Given the description of an element on the screen output the (x, y) to click on. 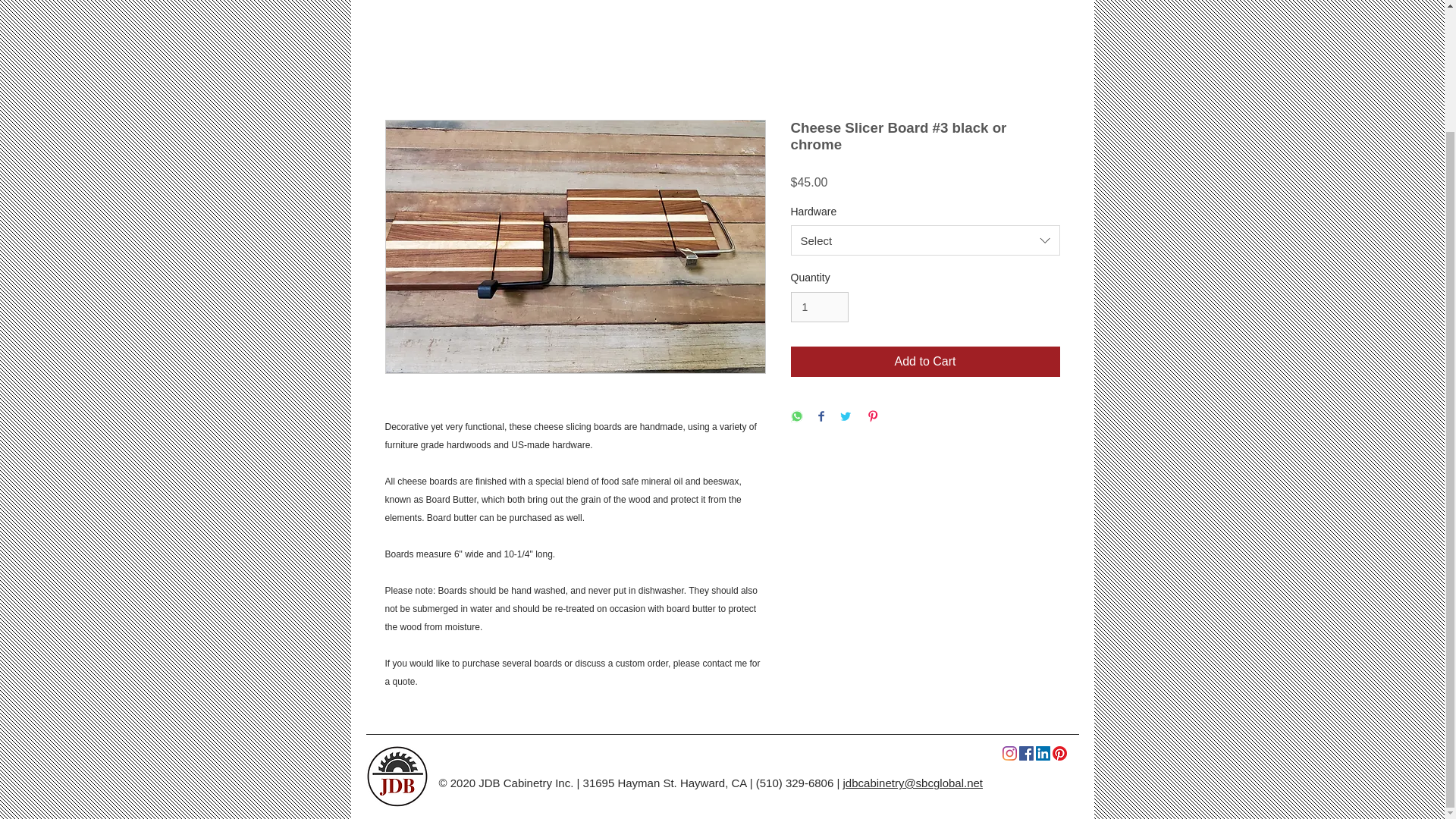
Add to Cart (924, 361)
1 (818, 306)
Select (924, 240)
